Given the description of an element on the screen output the (x, y) to click on. 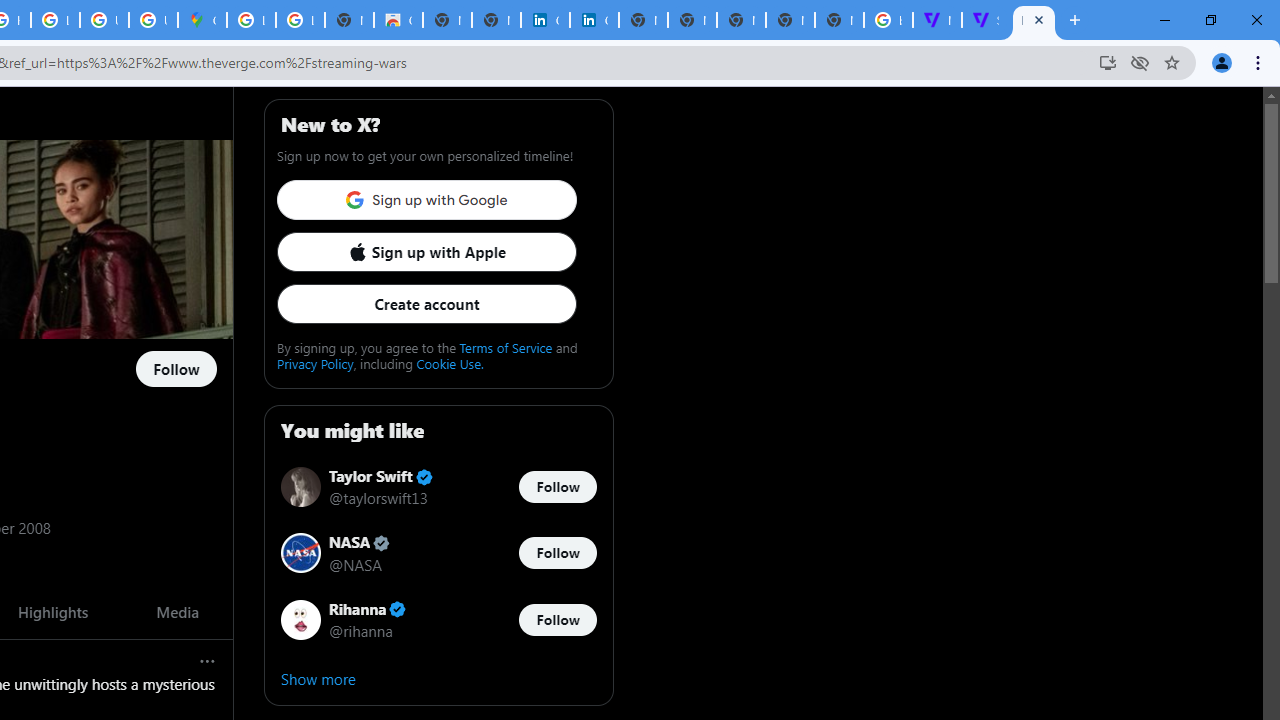
Media (176, 611)
Follow @rihanna (557, 619)
